Given the description of an element on the screen output the (x, y) to click on. 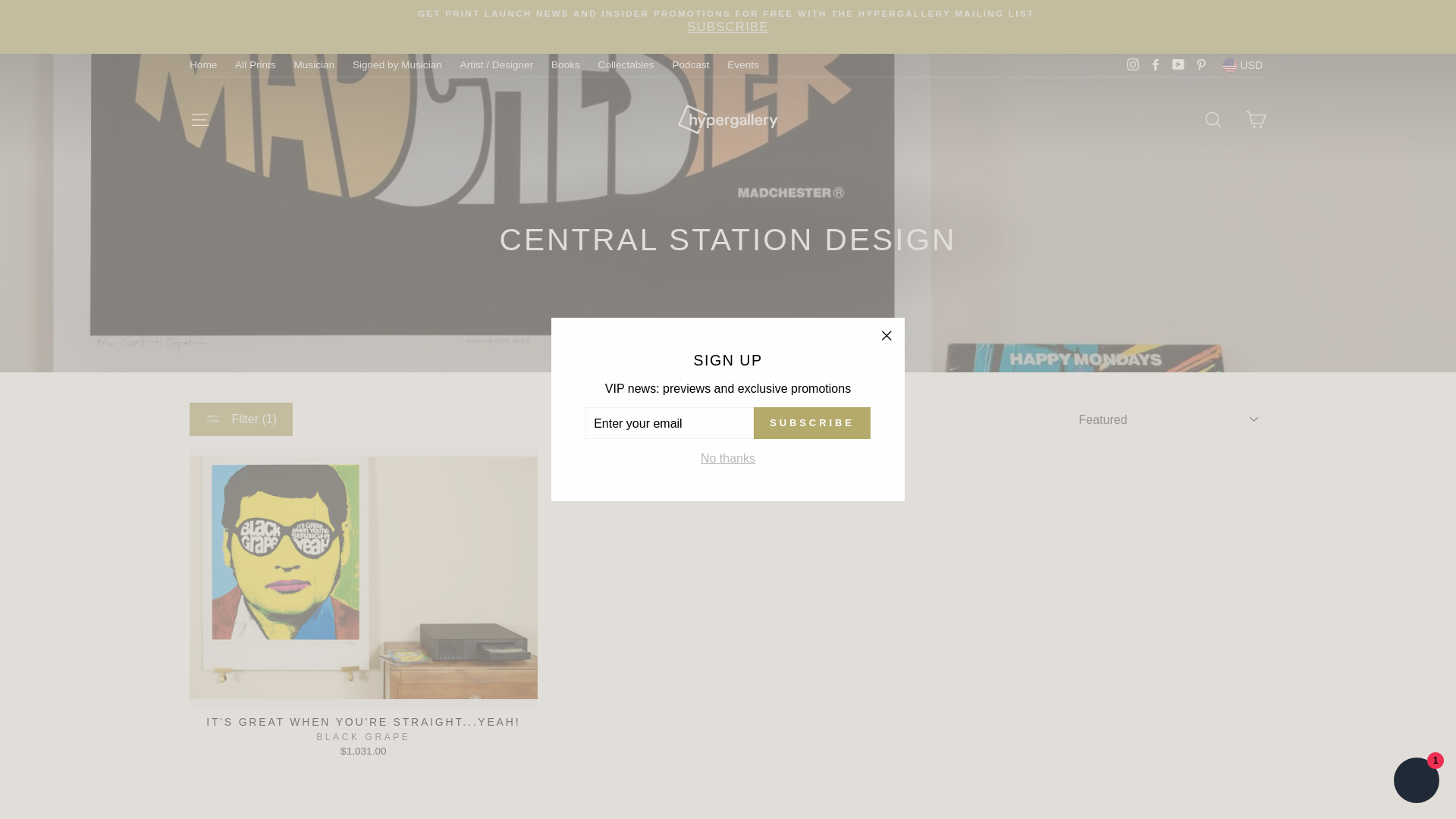
Hypergallery on Instagram (1132, 65)
Hypergallery on YouTube (1178, 65)
Hypergallery on Facebook (1155, 65)
Hypergallery on Pinterest (1201, 65)
